Given the description of an element on the screen output the (x, y) to click on. 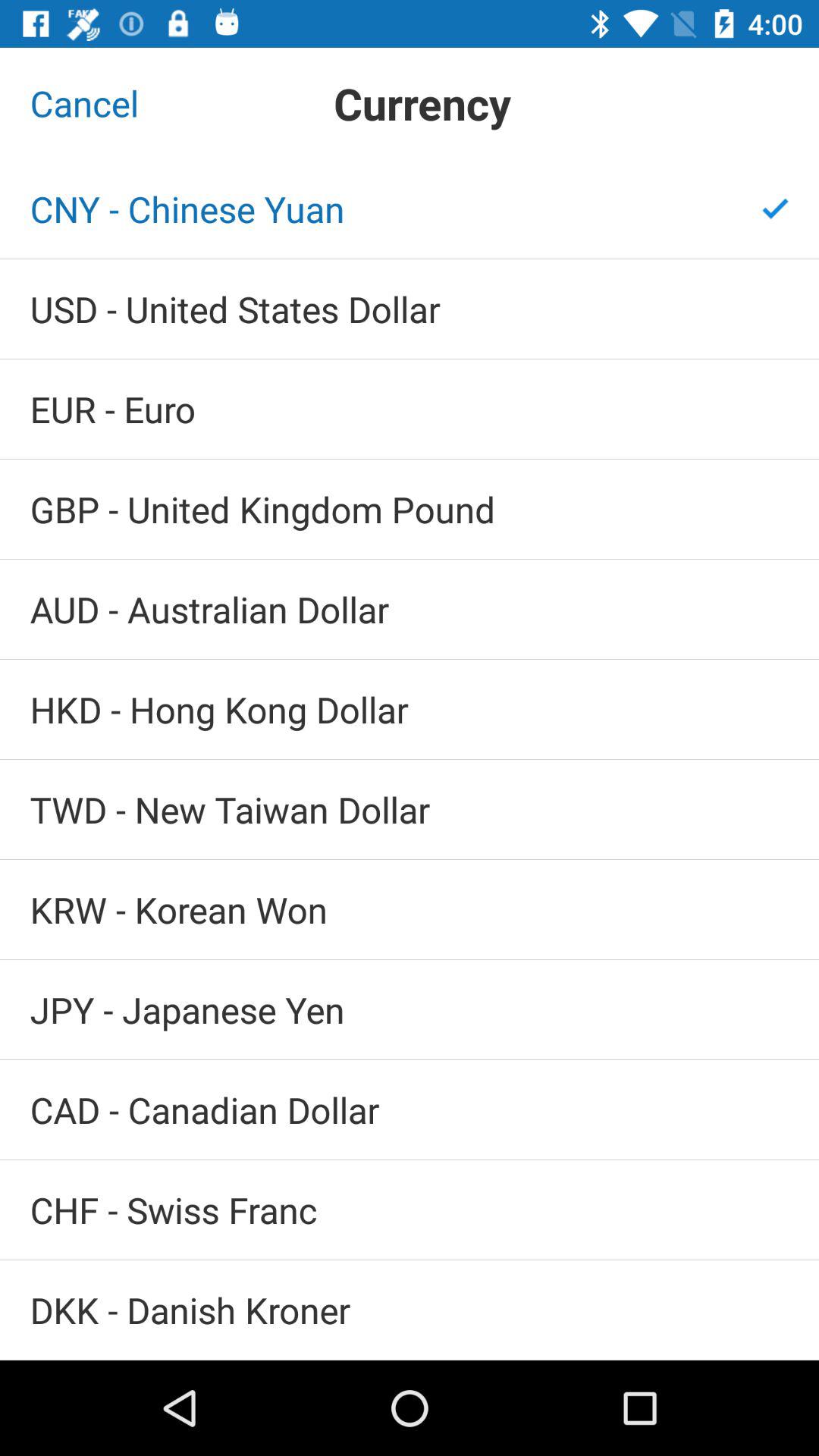
swipe until chf - swiss franc (409, 1209)
